Given the description of an element on the screen output the (x, y) to click on. 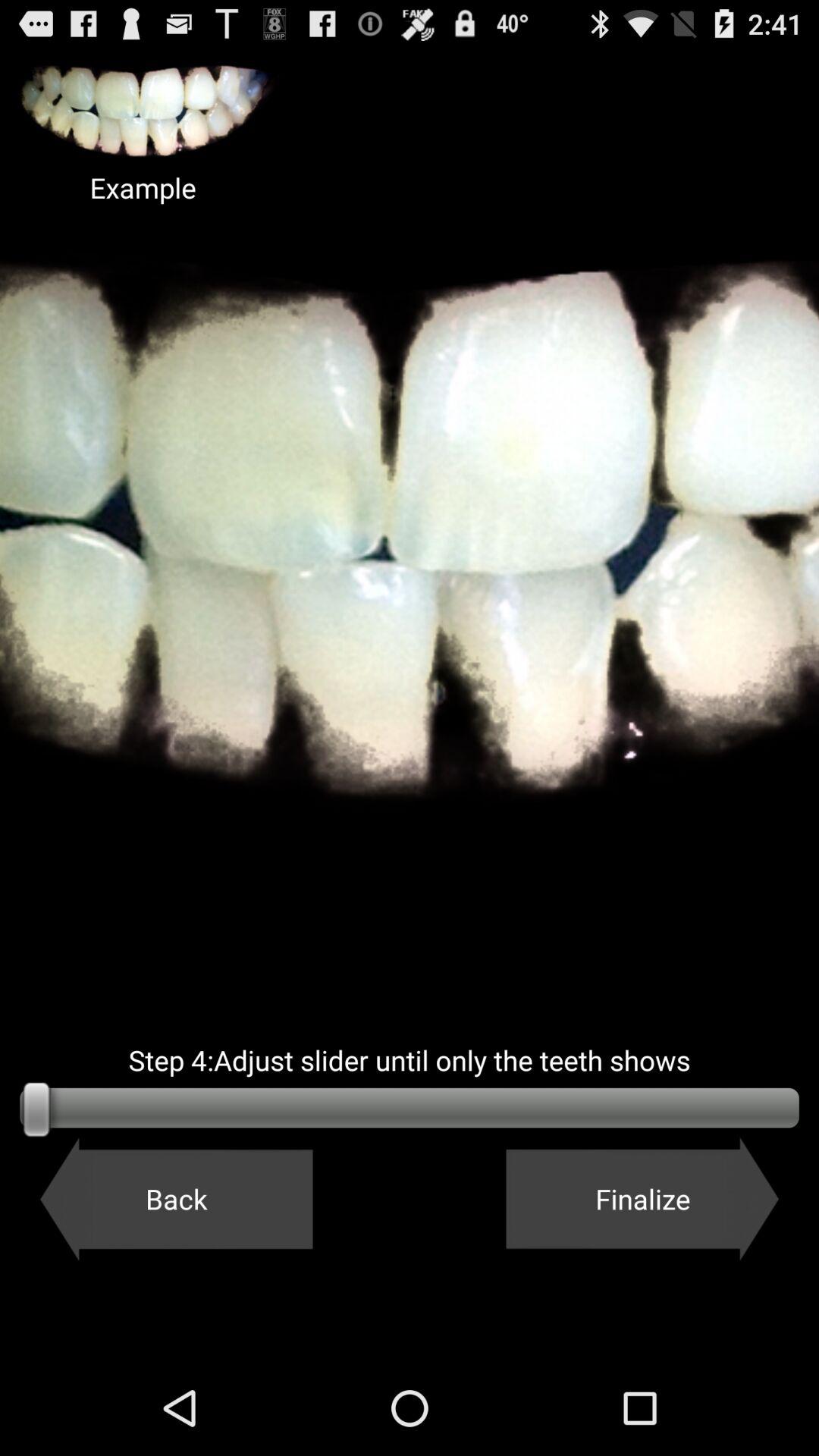
select the finalize icon (642, 1198)
